Given the description of an element on the screen output the (x, y) to click on. 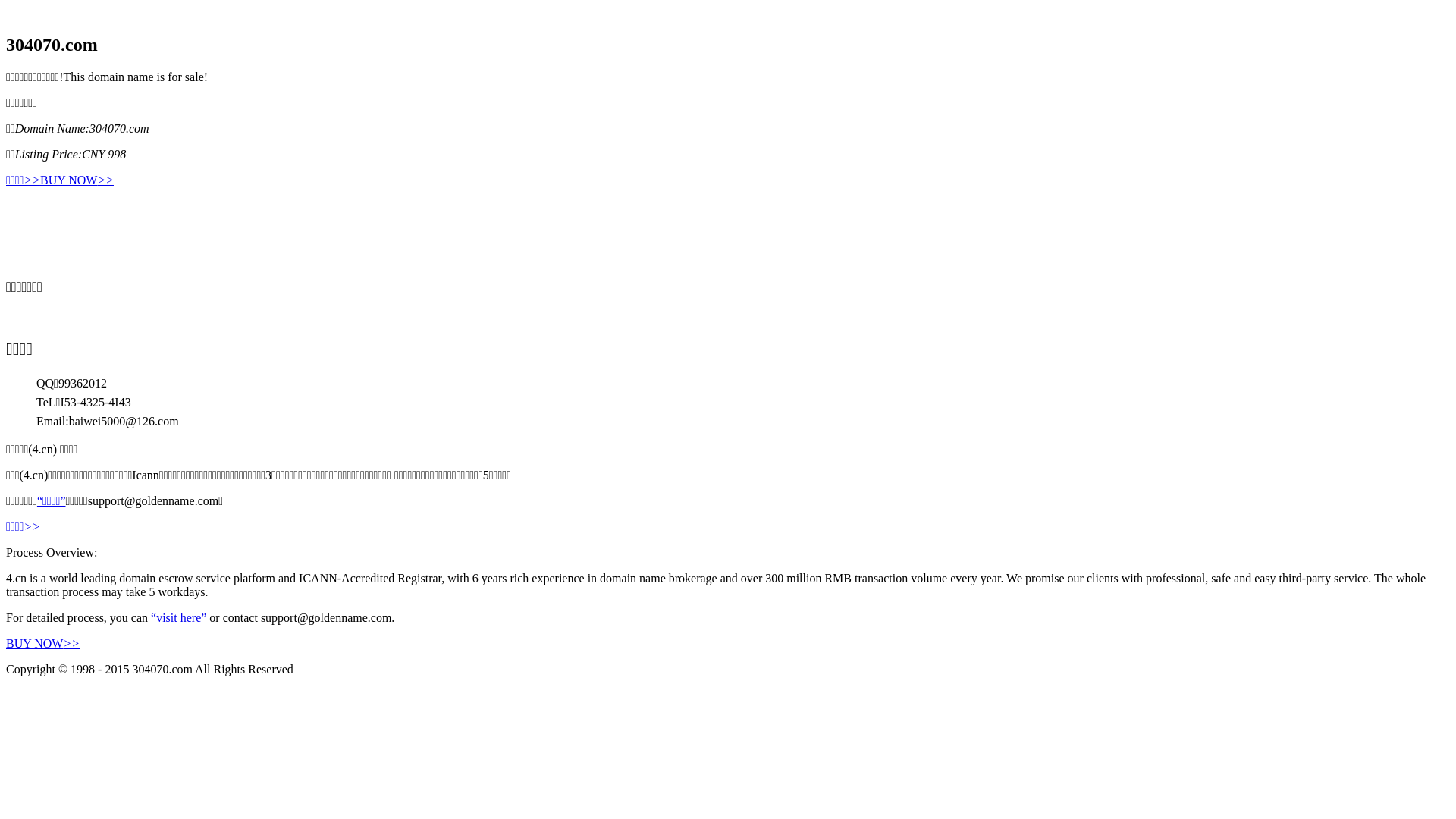
BUY NOW>> Element type: text (76, 180)
BUY NOW>> Element type: text (42, 643)
